Given the description of an element on the screen output the (x, y) to click on. 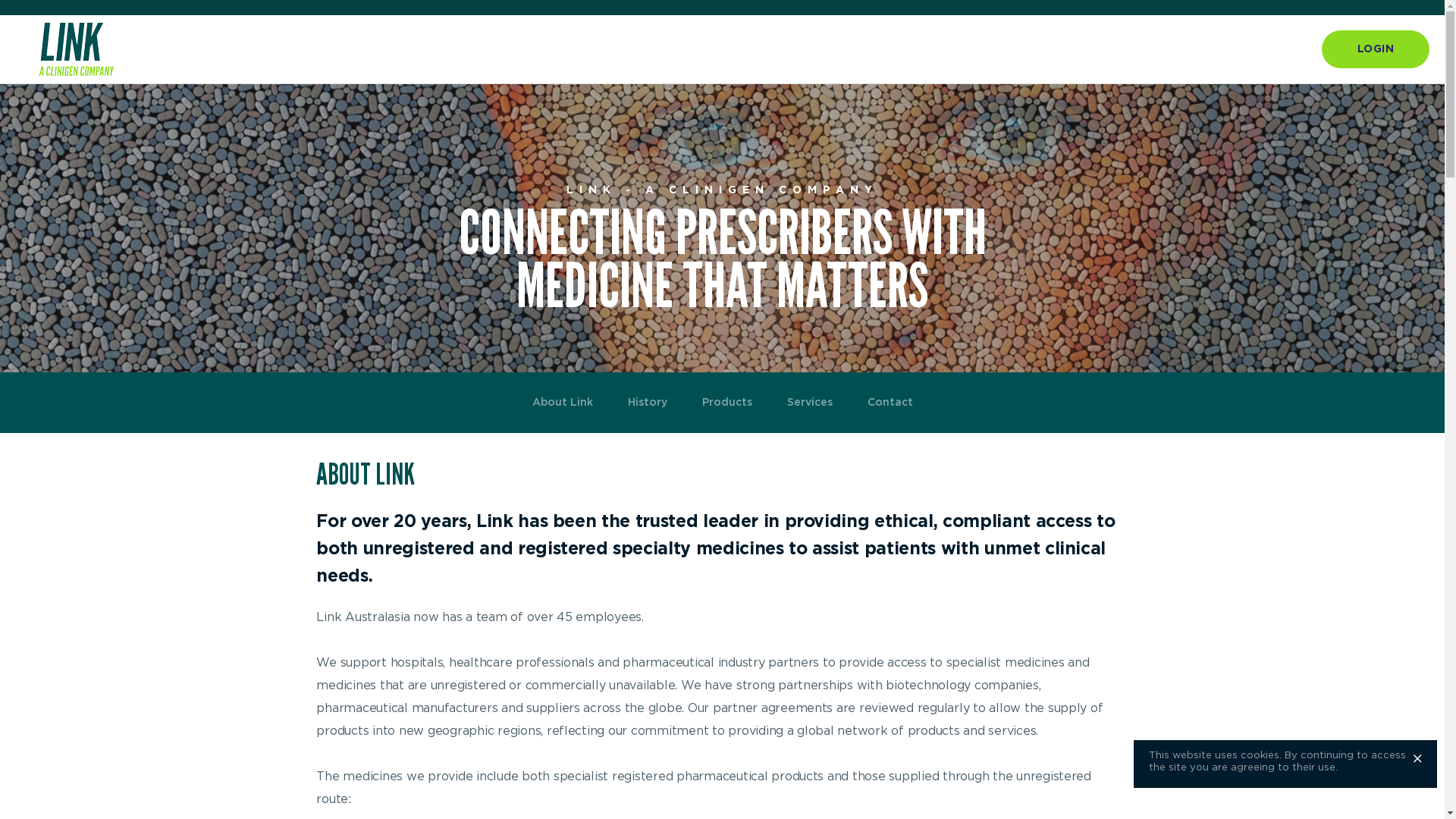
Contact Element type: text (889, 402)
History Element type: text (646, 402)
Products Element type: text (726, 402)
LOGIN Element type: text (1375, 49)
About Link Element type: text (561, 402)
Services Element type: text (808, 402)
